Given the description of an element on the screen output the (x, y) to click on. 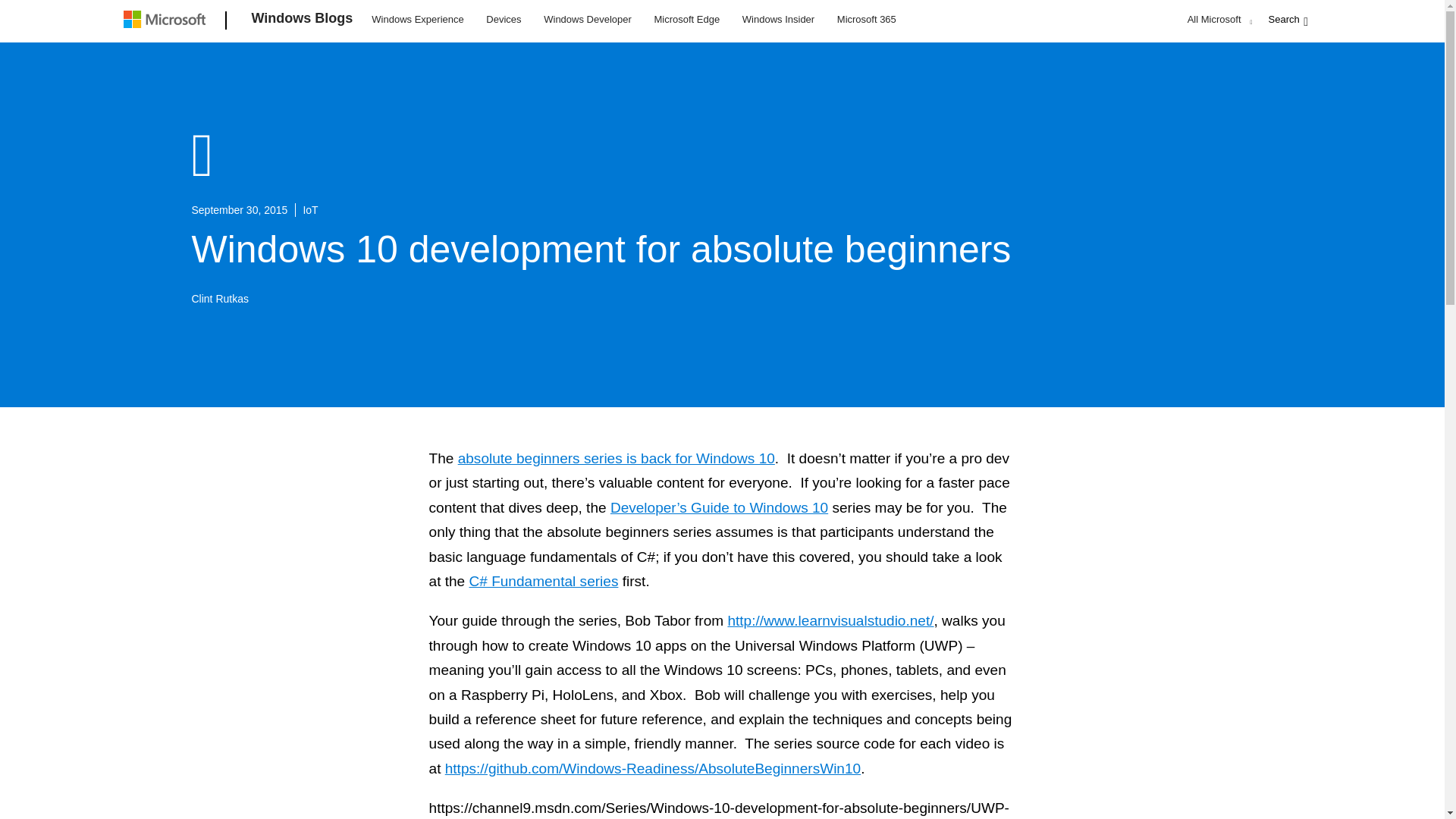
All Microsoft (1217, 18)
Windows Insider (778, 18)
Windows Blogs (302, 20)
Devices (503, 18)
Windows Developer (588, 18)
Microsoft 365 (865, 18)
Microsoft (167, 20)
Windows Experience (417, 18)
Microsoft Edge (686, 18)
